Given the description of an element on the screen output the (x, y) to click on. 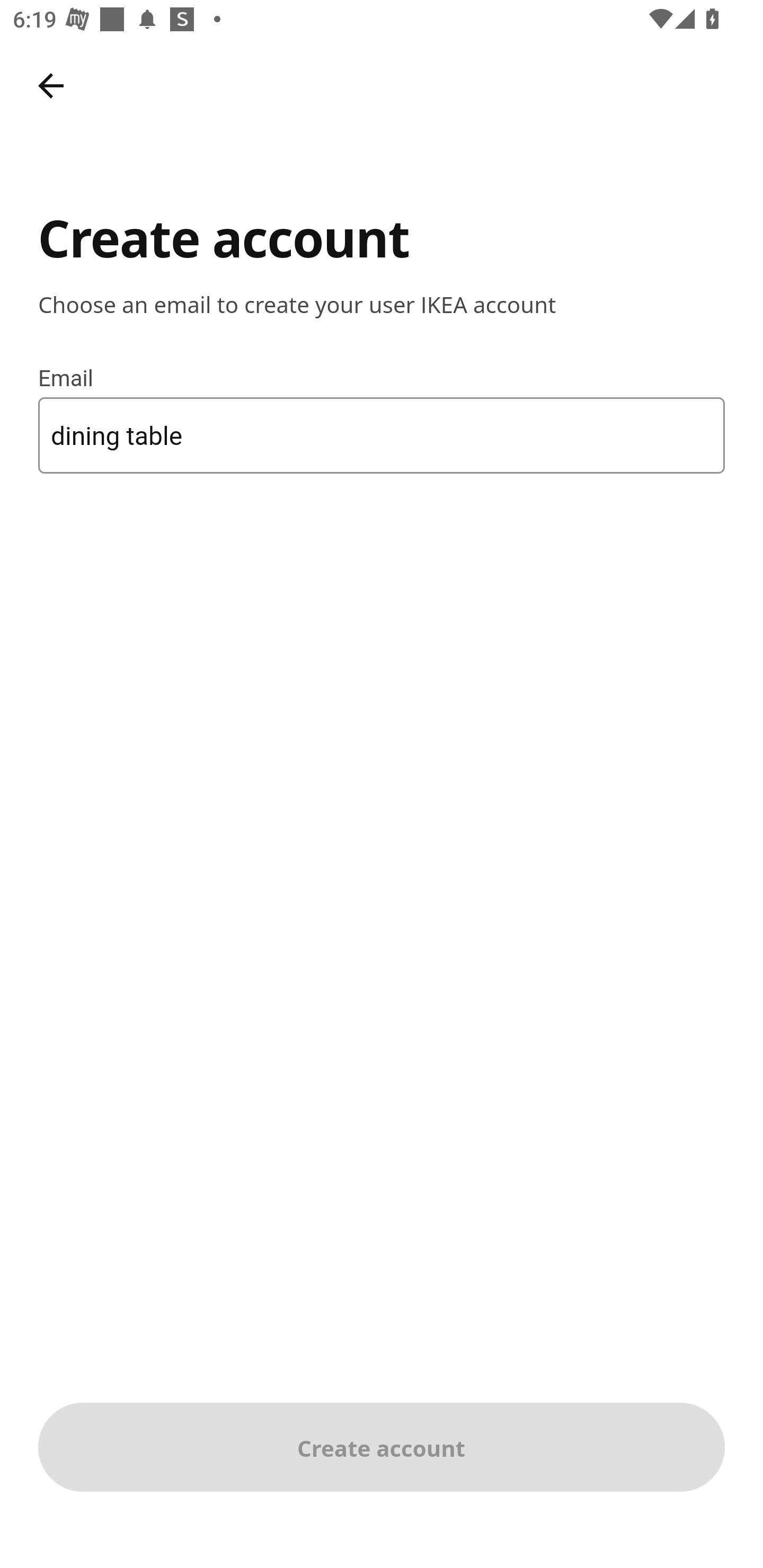
dining table (381, 434)
Create account (381, 1447)
